Given the description of an element on the screen output the (x, y) to click on. 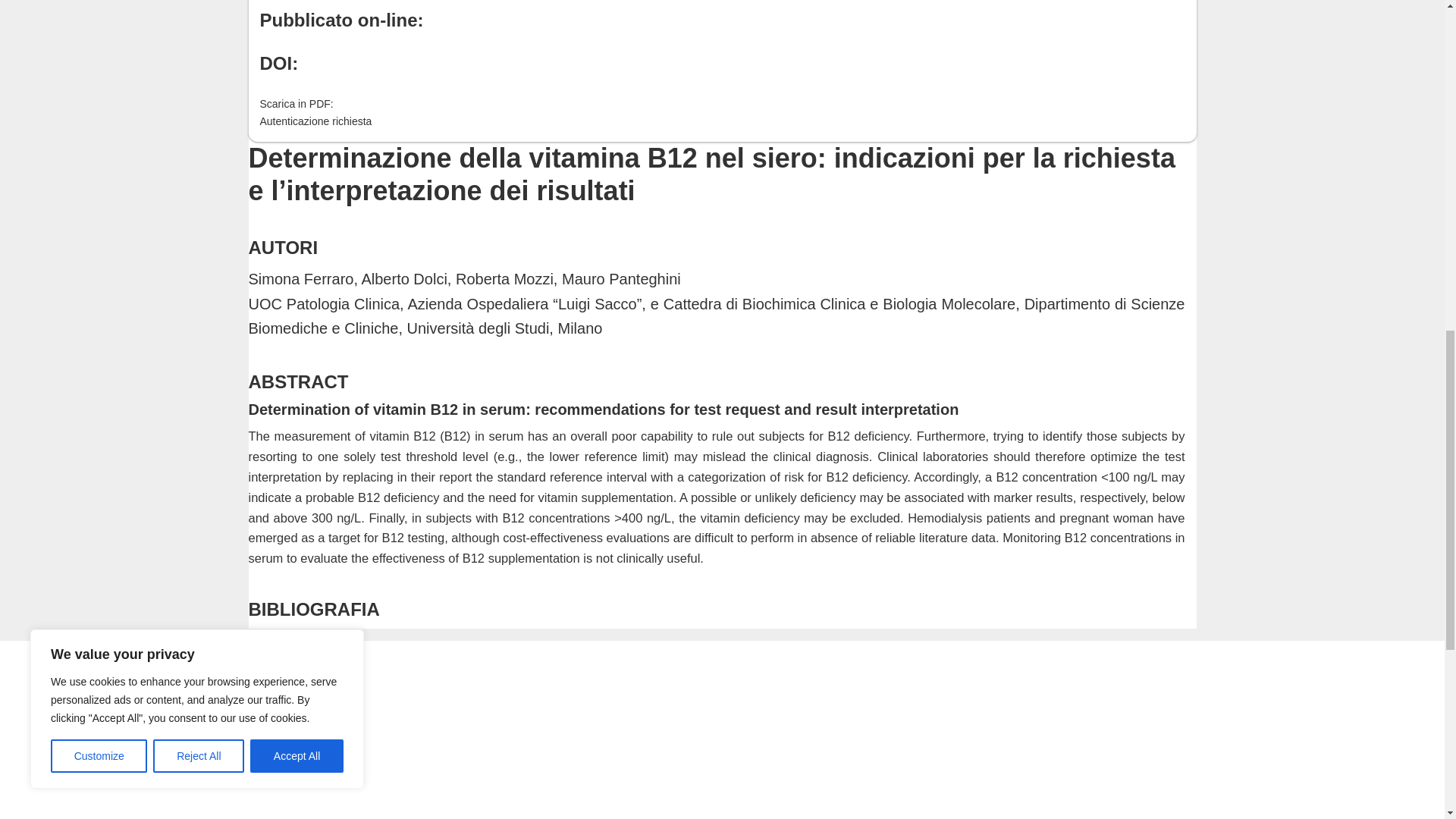
PRIVACY POLICY (300, 735)
HOME (267, 709)
5x1000 Docemus (299, 759)
